Given the description of an element on the screen output the (x, y) to click on. 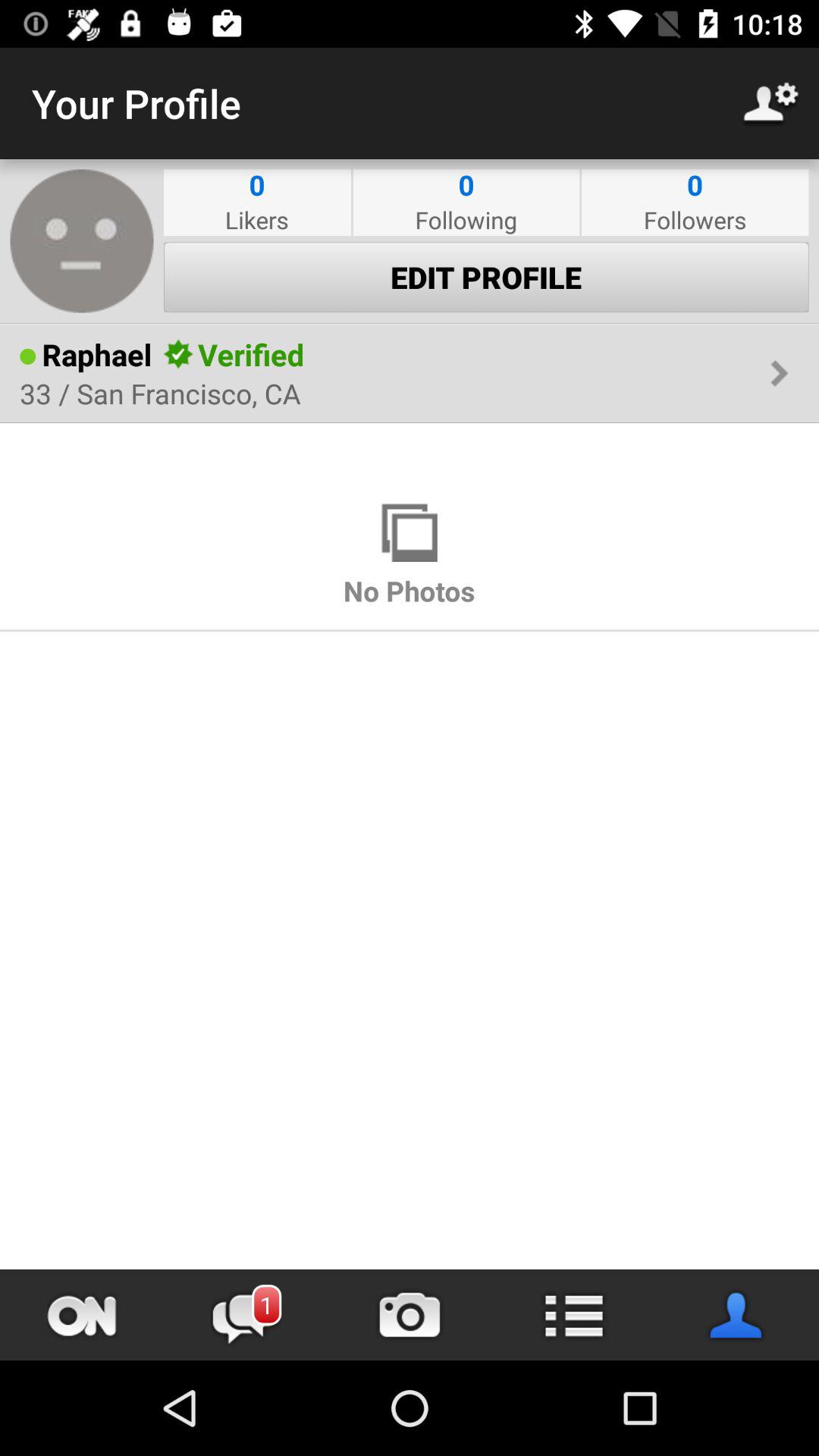
turn on the icon next to the raphael (27, 356)
